Given the description of an element on the screen output the (x, y) to click on. 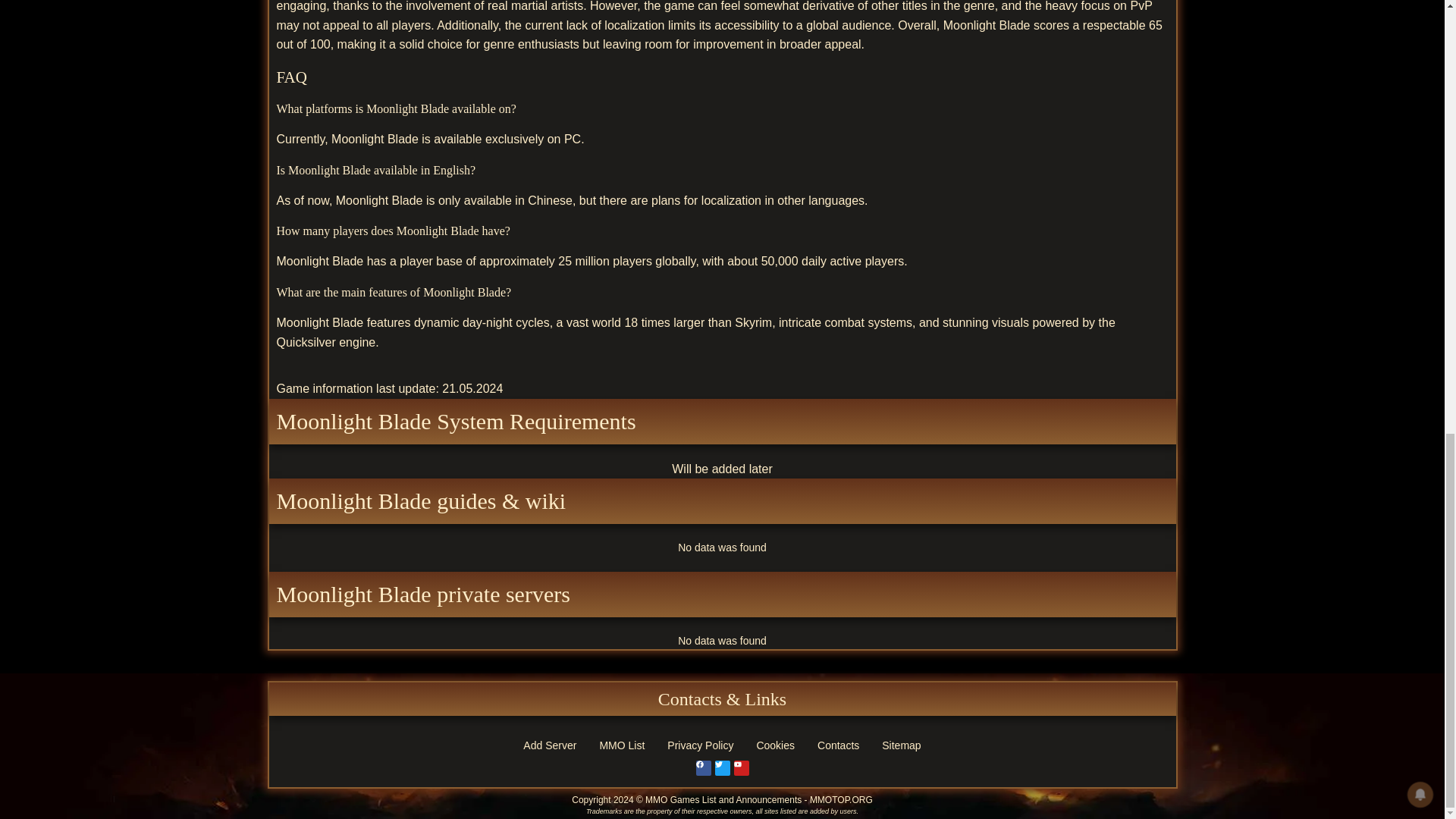
Cookies (775, 745)
Privacy Policy (700, 745)
MMO List (622, 745)
Add Server (550, 745)
Sitemap (900, 745)
Contacts (838, 745)
